Given the description of an element on the screen output the (x, y) to click on. 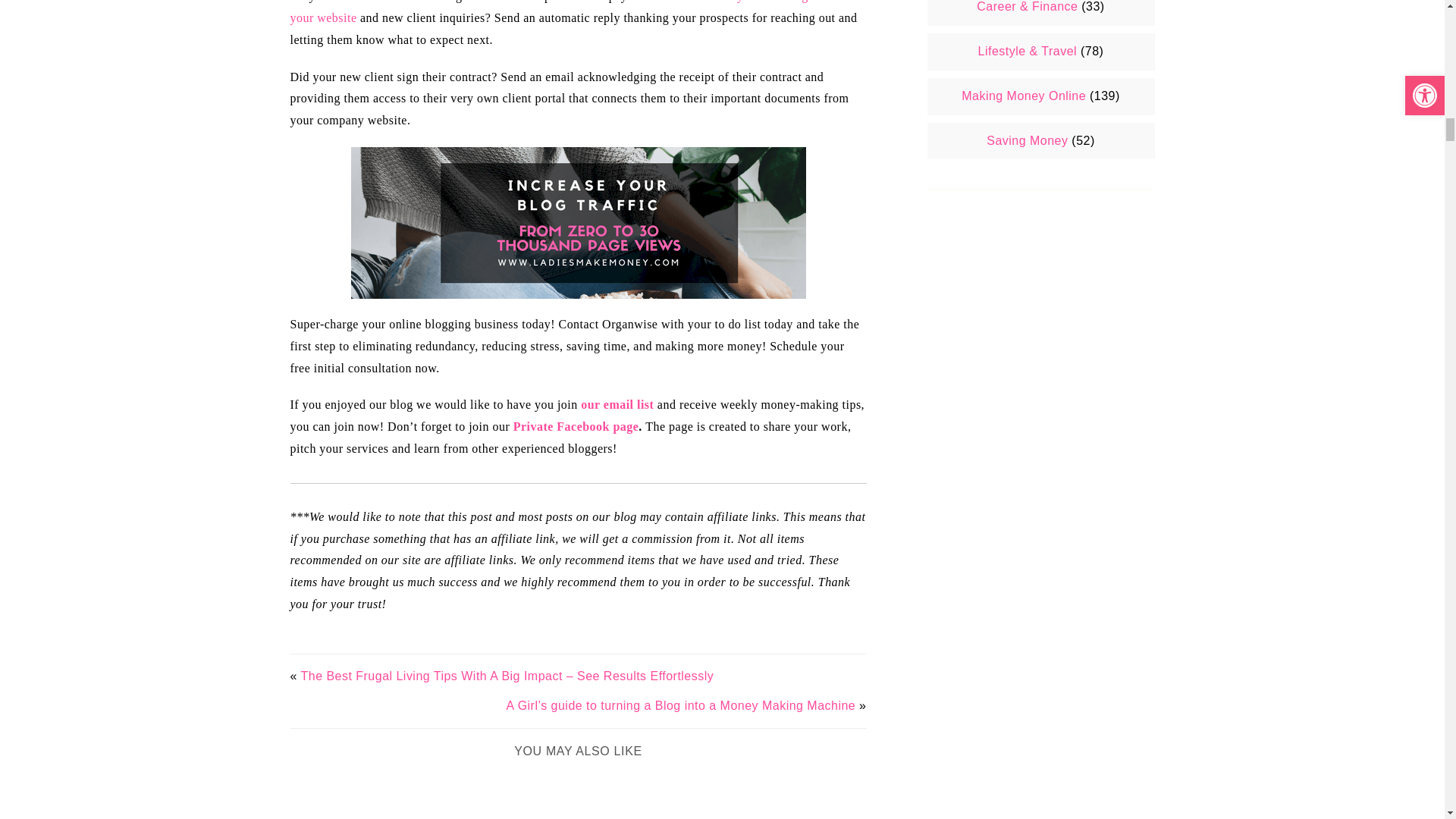
our email list (616, 404)
Are you receiving traffic on your website (574, 12)
Private Facebook page (576, 426)
From zero to 30 thousand page views with Facebook (577, 222)
